Given the description of an element on the screen output the (x, y) to click on. 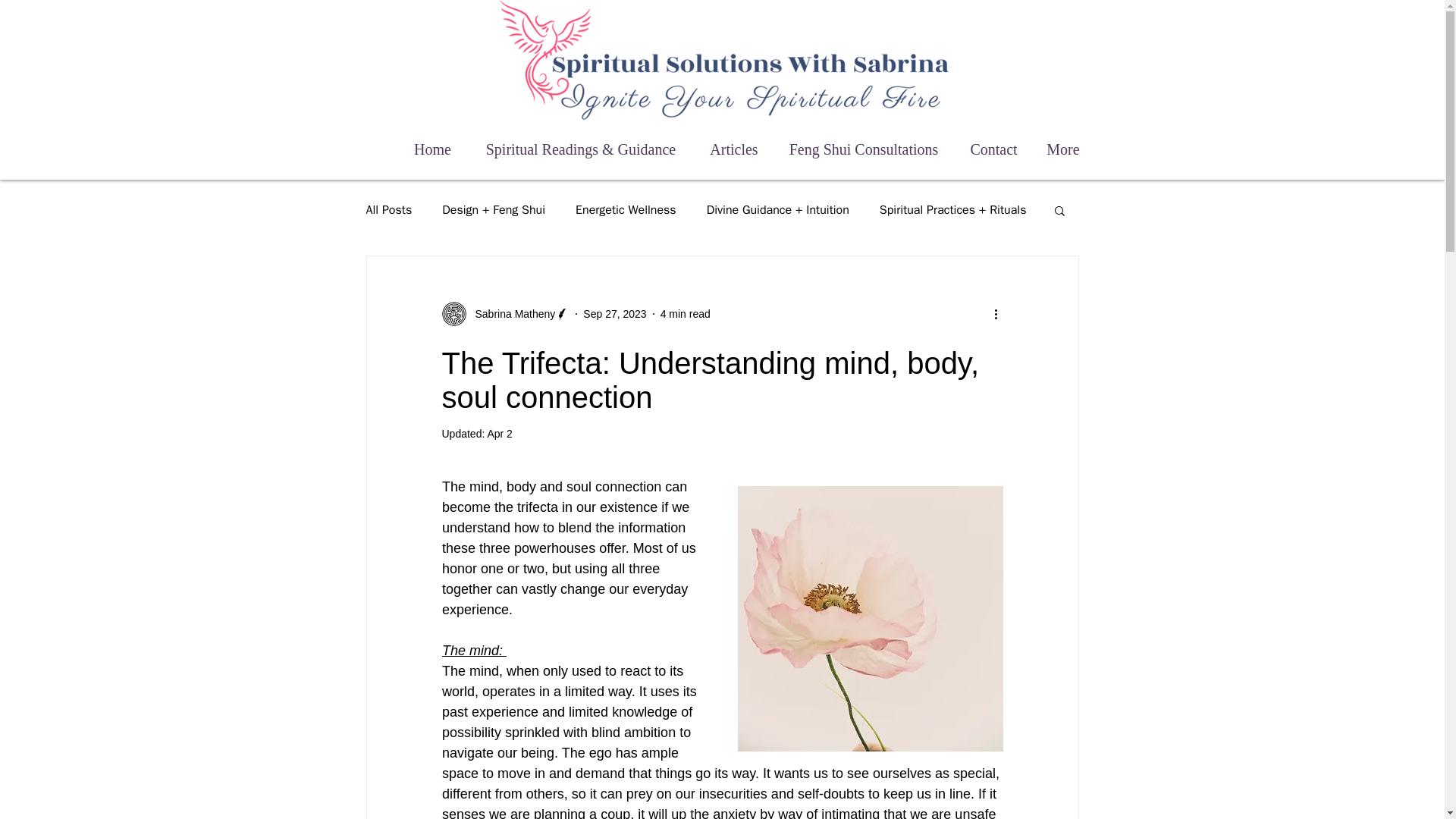
Home (431, 142)
Apr 2 (499, 433)
4 min read (685, 313)
All Posts (388, 209)
Sep 27, 2023 (614, 313)
Articles (734, 142)
Feng Shui Consultations (863, 142)
Sabrina Matheny (505, 313)
Contact (993, 142)
Energetic Wellness (626, 209)
